Given the description of an element on the screen output the (x, y) to click on. 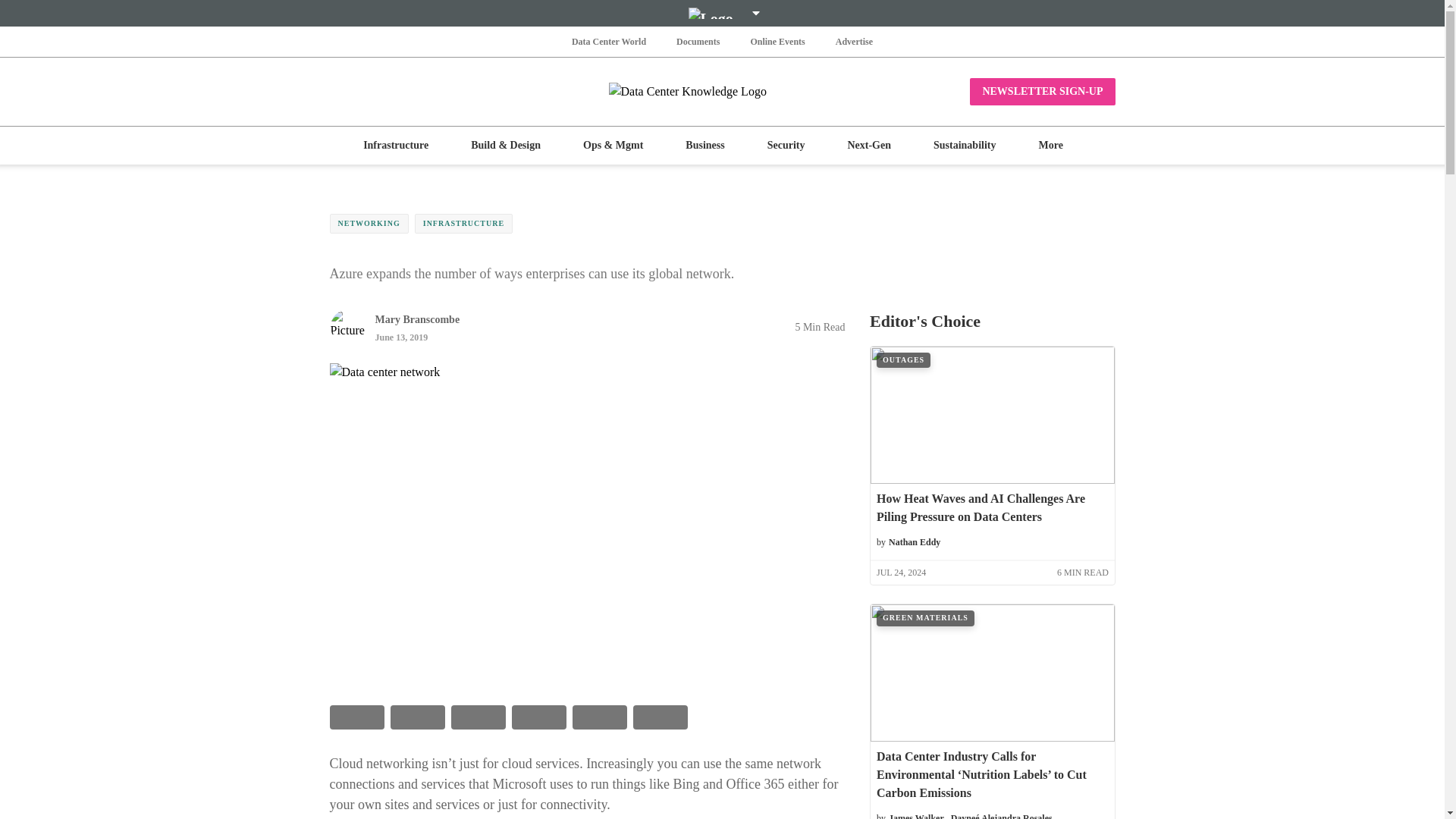
Picture of Mary Branscombe (347, 326)
Advertise (854, 41)
Documents (697, 41)
Data Center World (609, 41)
NEWSLETTER SIGN-UP (1042, 90)
Data Center Knowledge Logo (721, 91)
Online Events (777, 41)
